Given the description of an element on the screen output the (x, y) to click on. 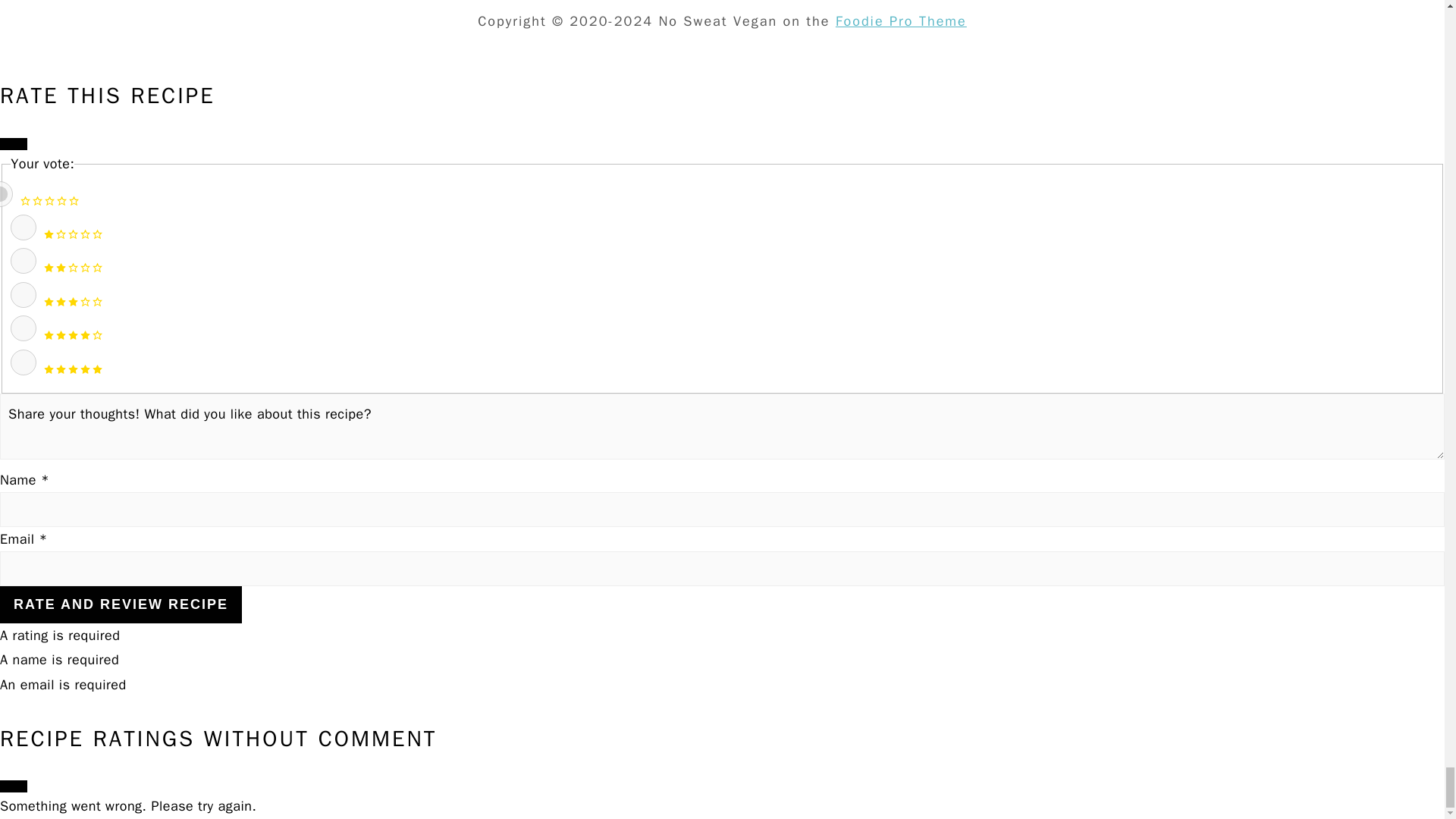
2 (23, 260)
5 (23, 362)
3 (23, 294)
4 (23, 328)
1 (23, 227)
